Given the description of an element on the screen output the (x, y) to click on. 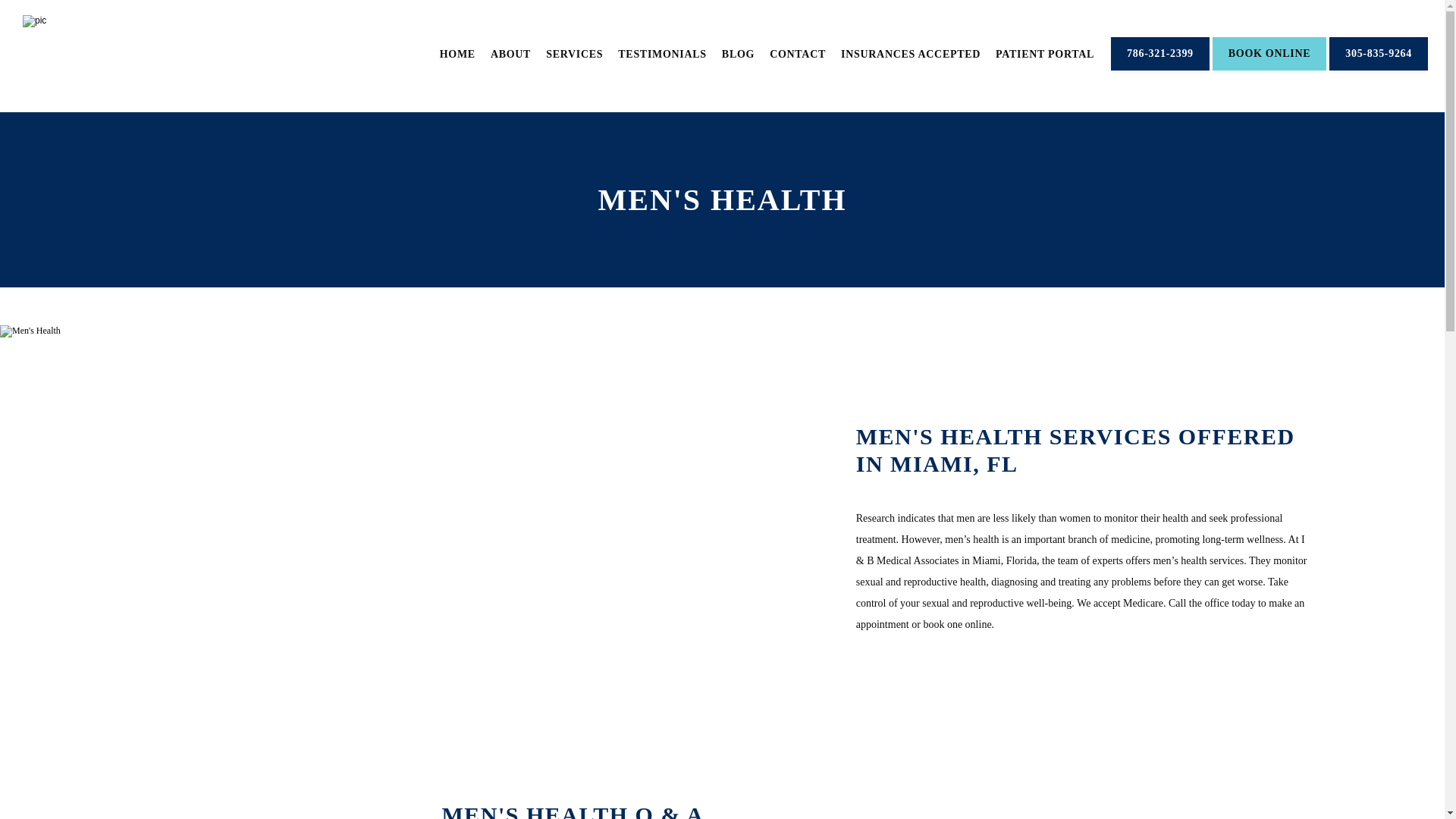
SERVICES (574, 53)
BLOG (738, 53)
TESTIMONIALS (661, 53)
HOME (457, 53)
786-321-2399 (1160, 68)
PATIENT PORTAL (1044, 53)
305-835-9264 (1378, 68)
BOOK ONLINE (1269, 68)
INSURANCES ACCEPTED (910, 53)
ABOUT (510, 53)
